Given the description of an element on the screen output the (x, y) to click on. 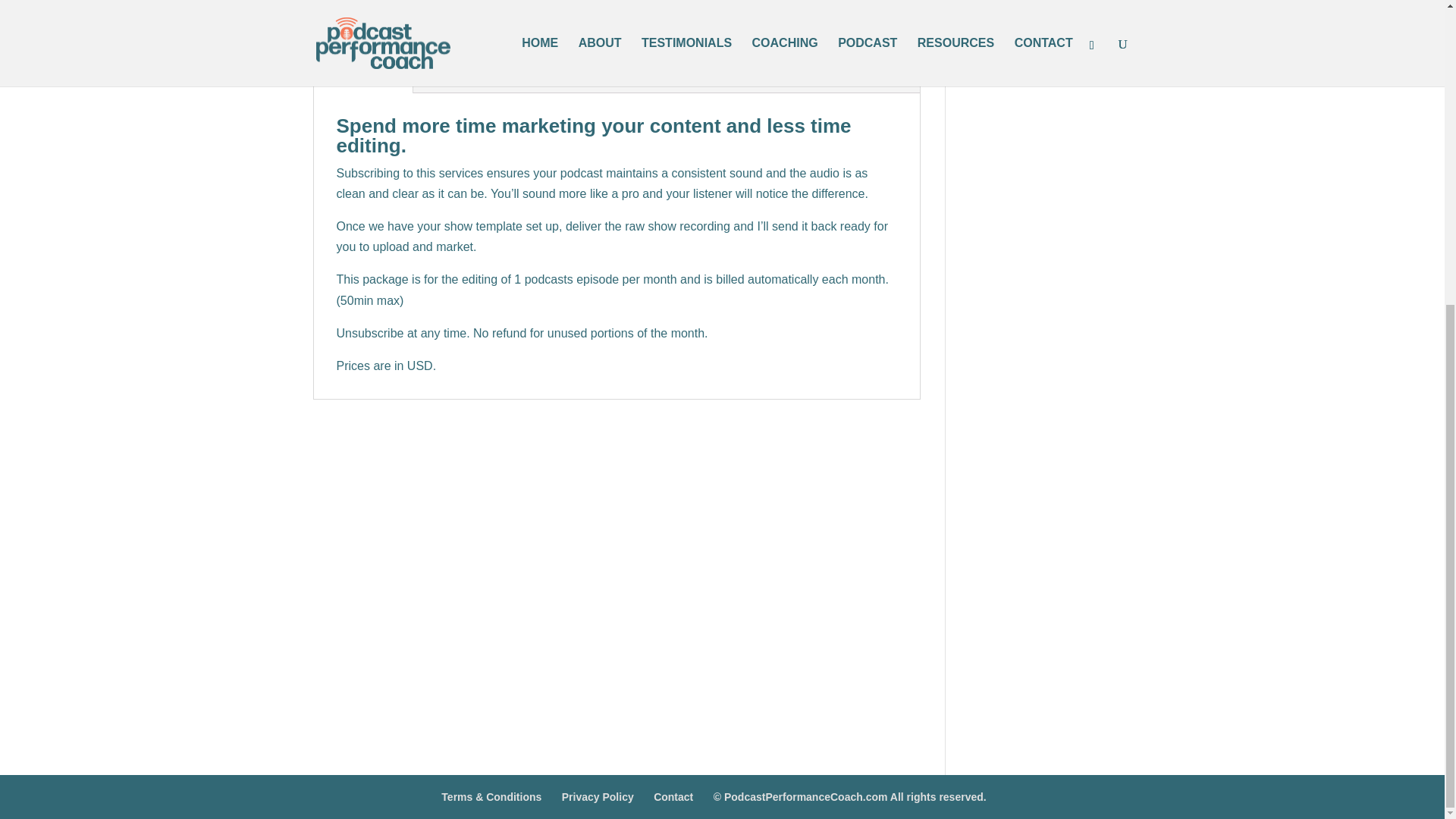
Description (362, 80)
